Given the description of an element on the screen output the (x, y) to click on. 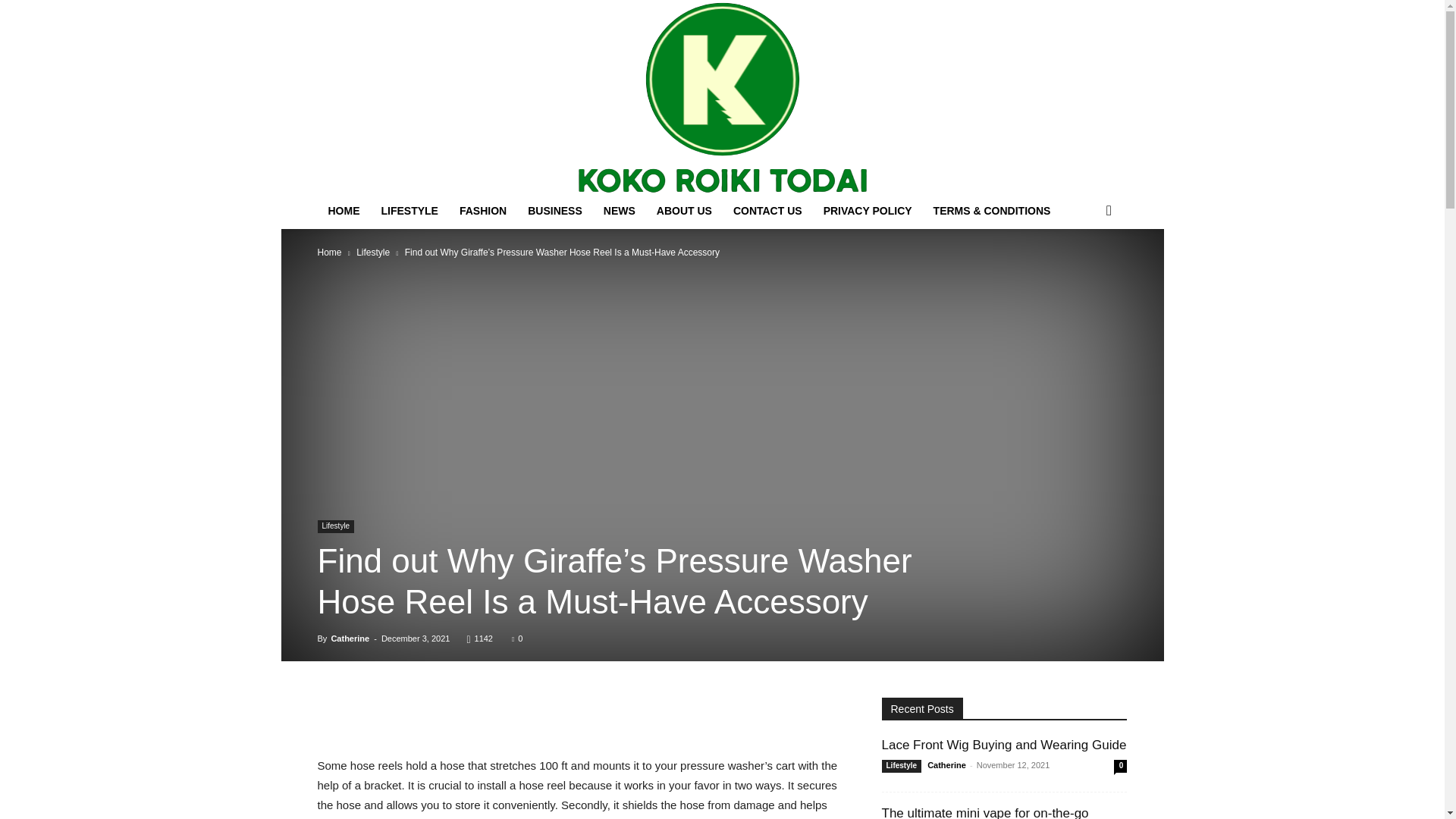
LIFESTYLE (408, 210)
FASHION (482, 210)
PRIVACY POLICY (867, 210)
0 (517, 637)
CONTACT US (767, 210)
NEWS (619, 210)
BUSINESS (554, 210)
Kokoroiki-todai.com (722, 96)
Lifestyle (335, 526)
Lifestyle (373, 252)
